Given the description of an element on the screen output the (x, y) to click on. 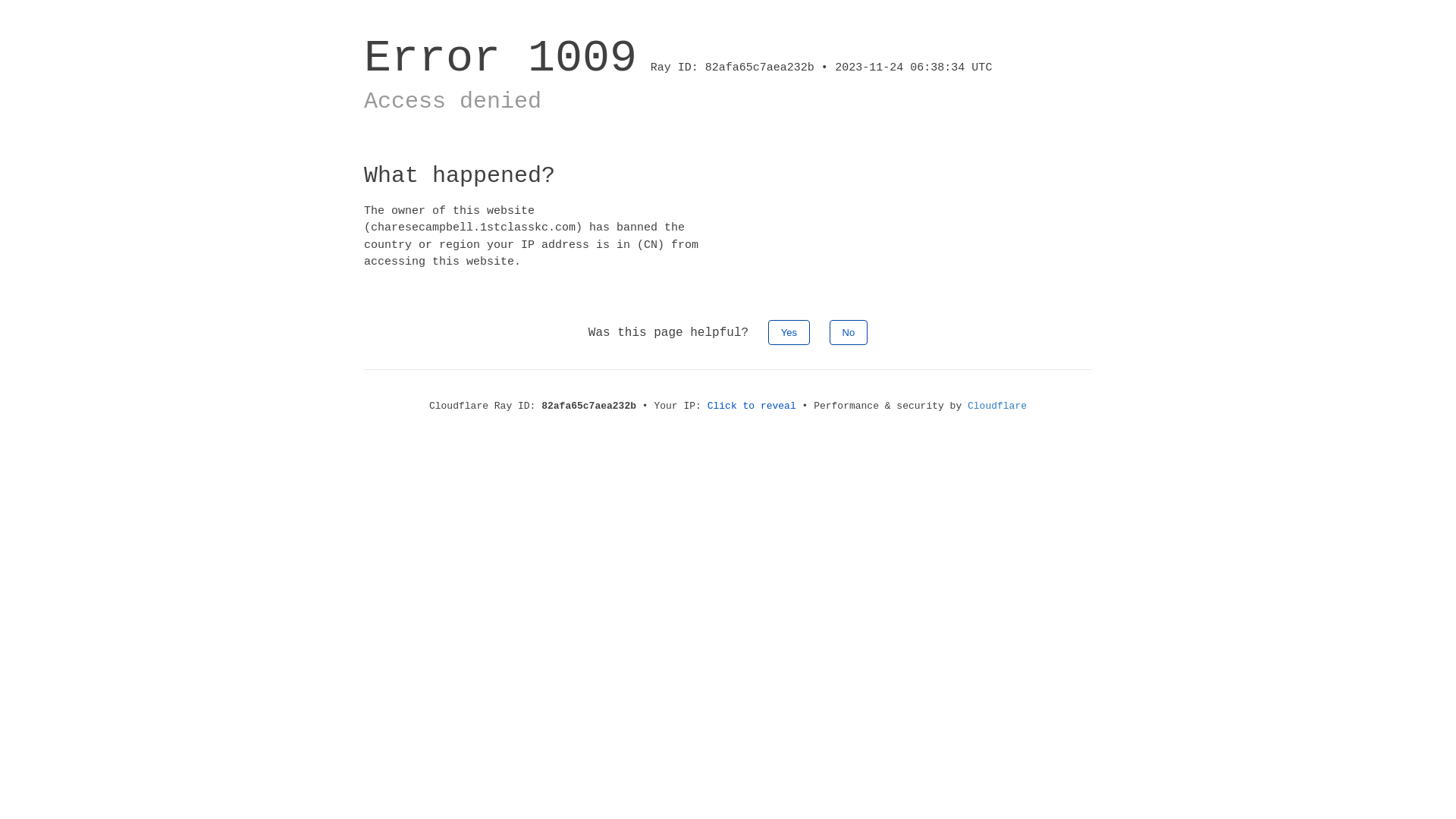
Yes Element type: text (788, 332)
No Element type: text (848, 332)
Cloudflare Element type: text (996, 405)
Click to reveal Element type: text (751, 405)
